Given the description of an element on the screen output the (x, y) to click on. 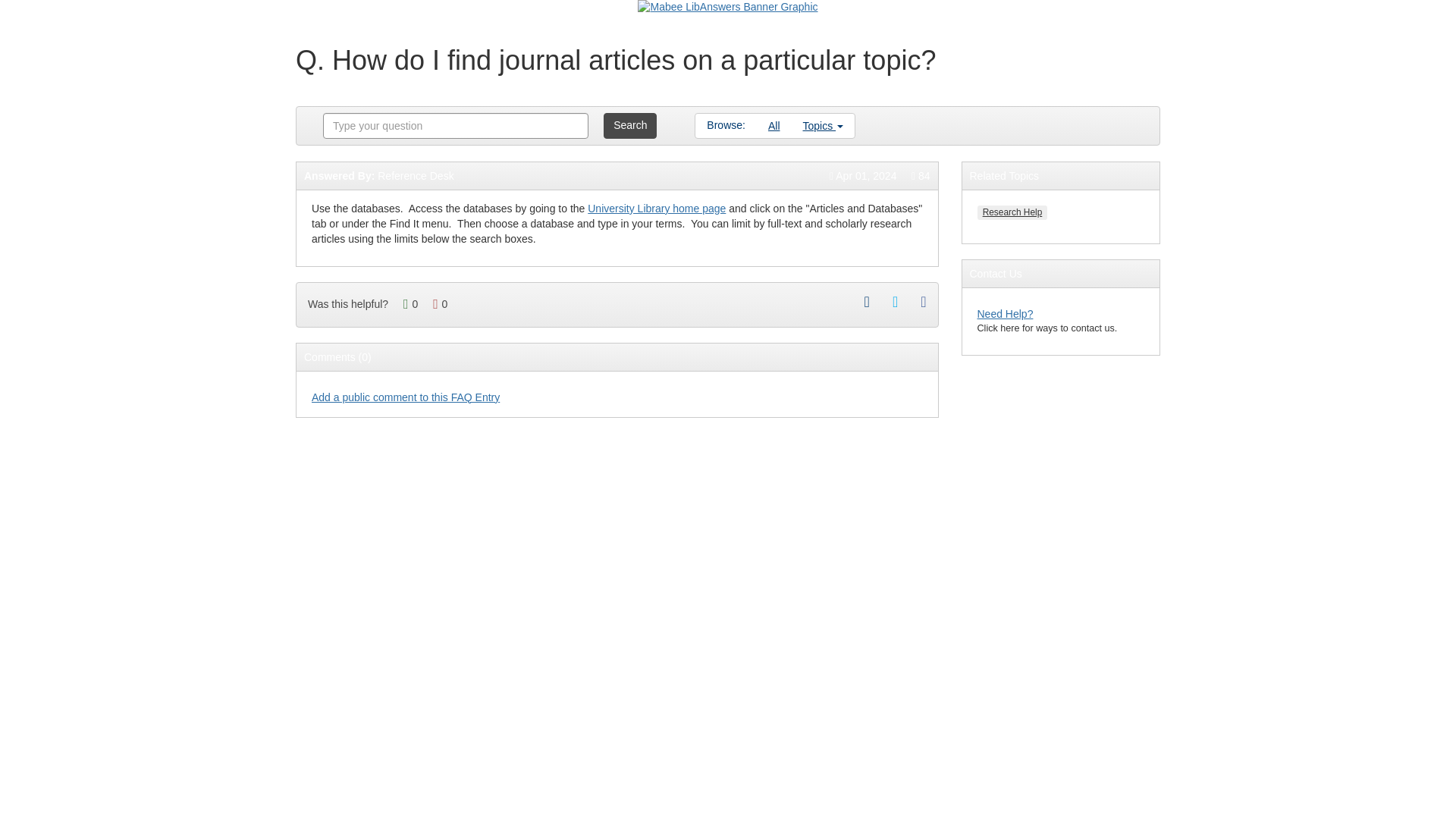
Need Help? (1004, 313)
Search (630, 125)
Views (920, 175)
Research Help (1012, 212)
Topics (824, 125)
Add a public comment to this FAQ Entry (405, 397)
Last Updated (862, 175)
University Library home page (656, 208)
All (774, 125)
